Given the description of an element on the screen output the (x, y) to click on. 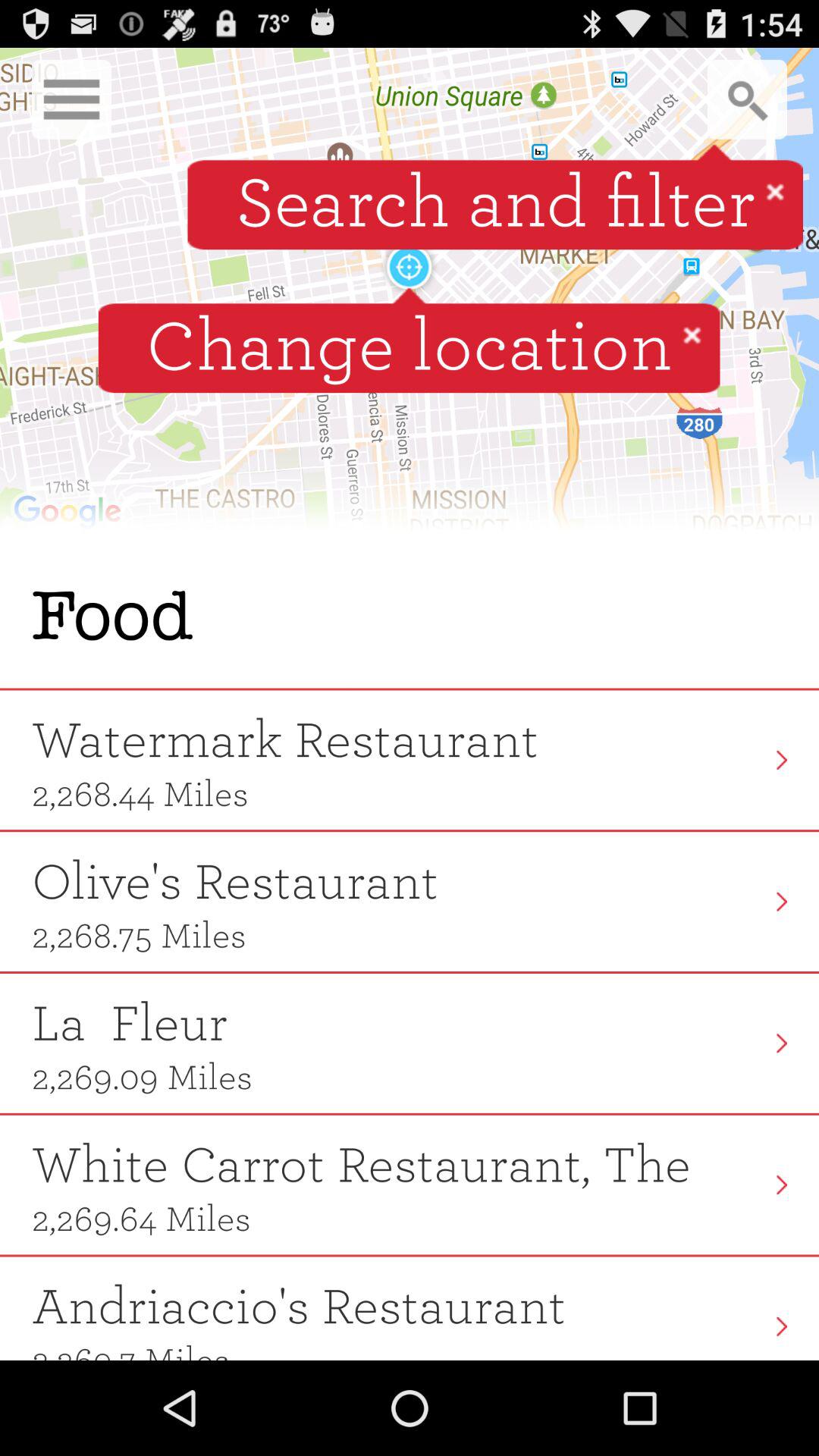
close icon (692, 334)
